Given the description of an element on the screen output the (x, y) to click on. 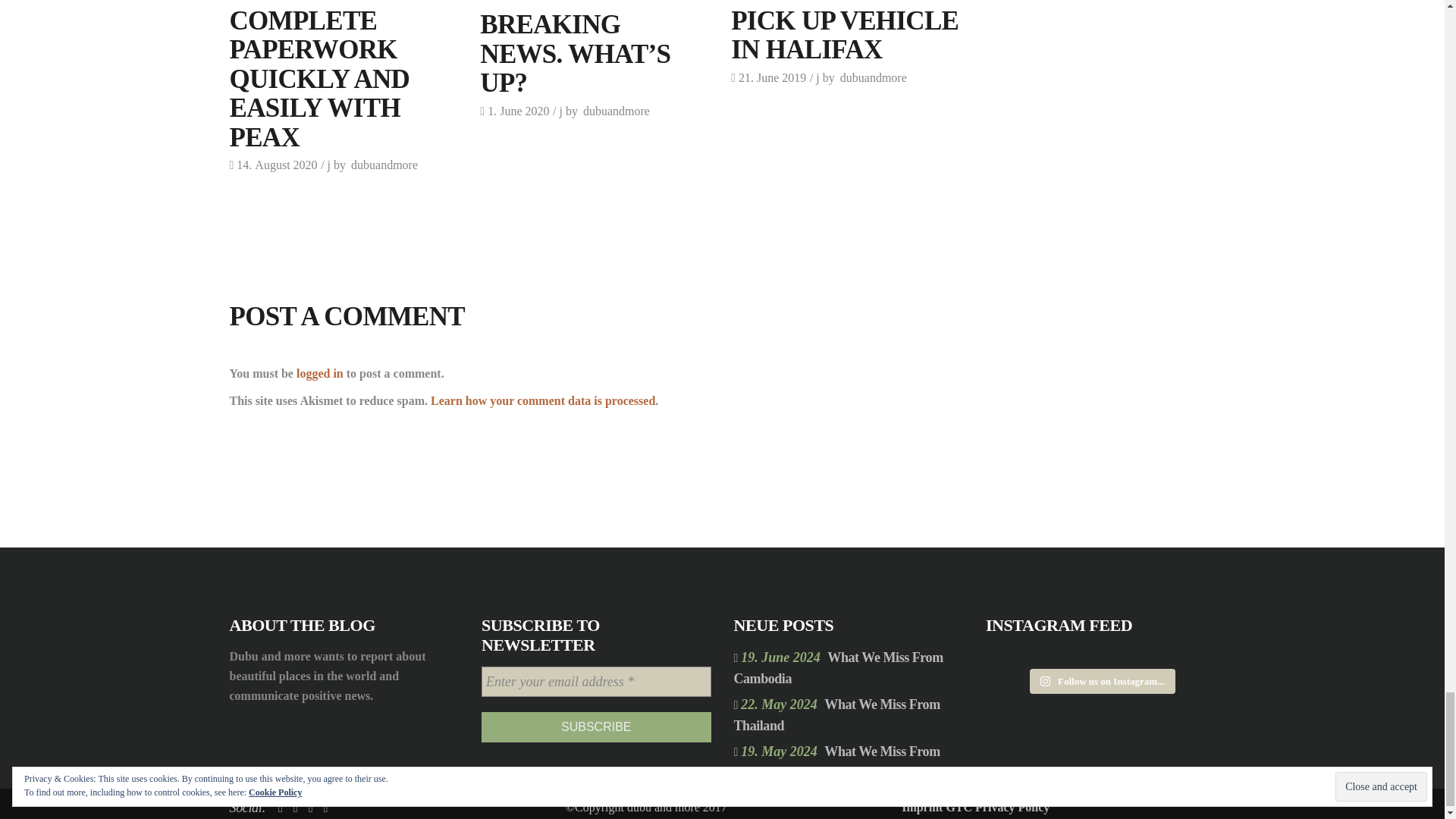
What we miss from the southwest of the USA (836, 761)
Complete paperwork quickly and easily with PEAX (318, 78)
SUBSCRIBE (596, 726)
Pick up vehicle in Halifax (844, 35)
Enter your email address (596, 681)
What we miss from Cambodia (838, 668)
What we miss from Thailand (836, 714)
